Given the description of an element on the screen output the (x, y) to click on. 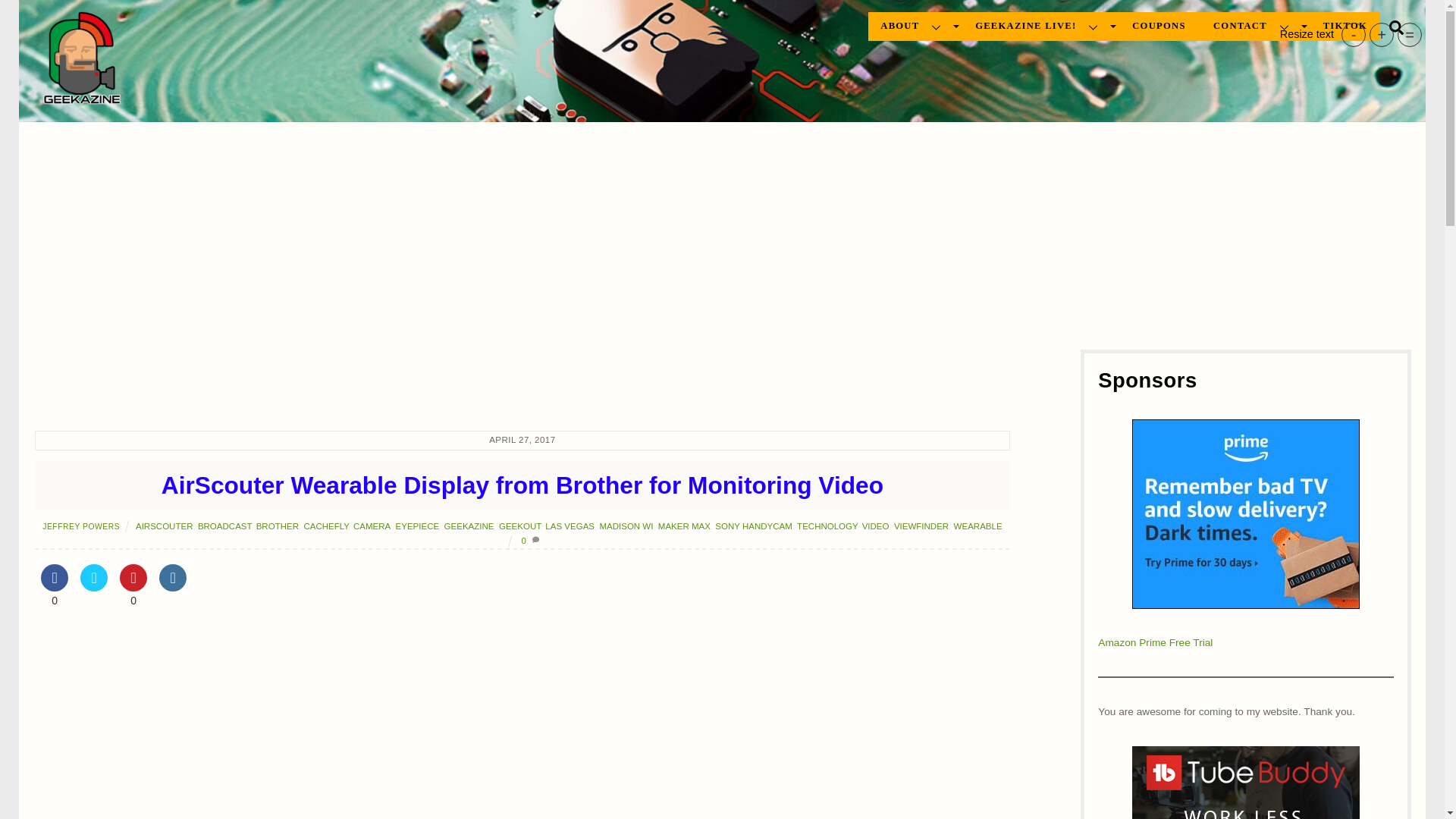
AIRSCOUTER (164, 525)
EYEPIECE (417, 525)
Geekazine (80, 98)
JEFFREY POWERS (80, 526)
CONTACT (1253, 26)
ABOUT (914, 26)
TECHNOLOGY (826, 525)
MAKER MAX (684, 525)
GEEKAZINE (469, 525)
Livestreaming for your event! (1039, 26)
GEEKOUT (519, 525)
CACHEFLY (324, 525)
BROTHER (277, 525)
